Given the description of an element on the screen output the (x, y) to click on. 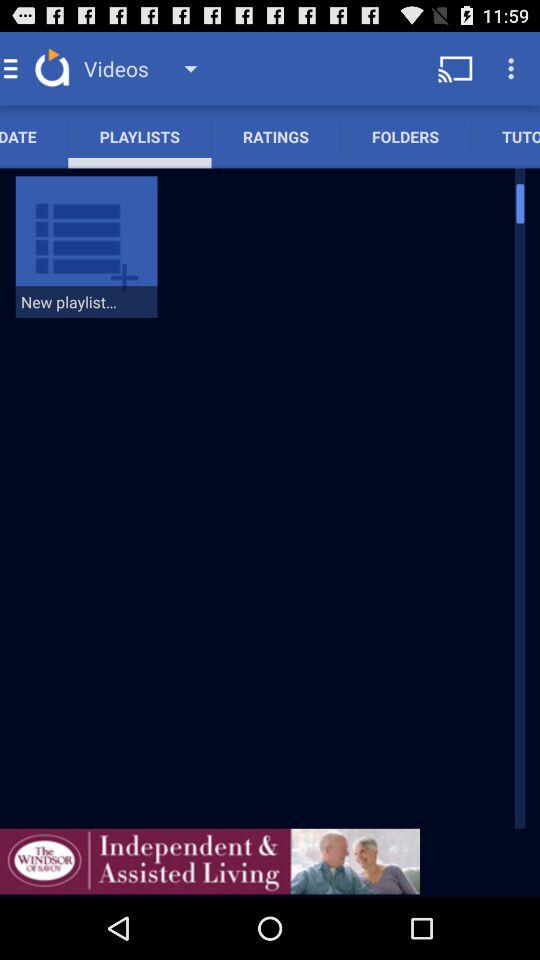
advertisement link to different site (210, 861)
